Given the description of an element on the screen output the (x, y) to click on. 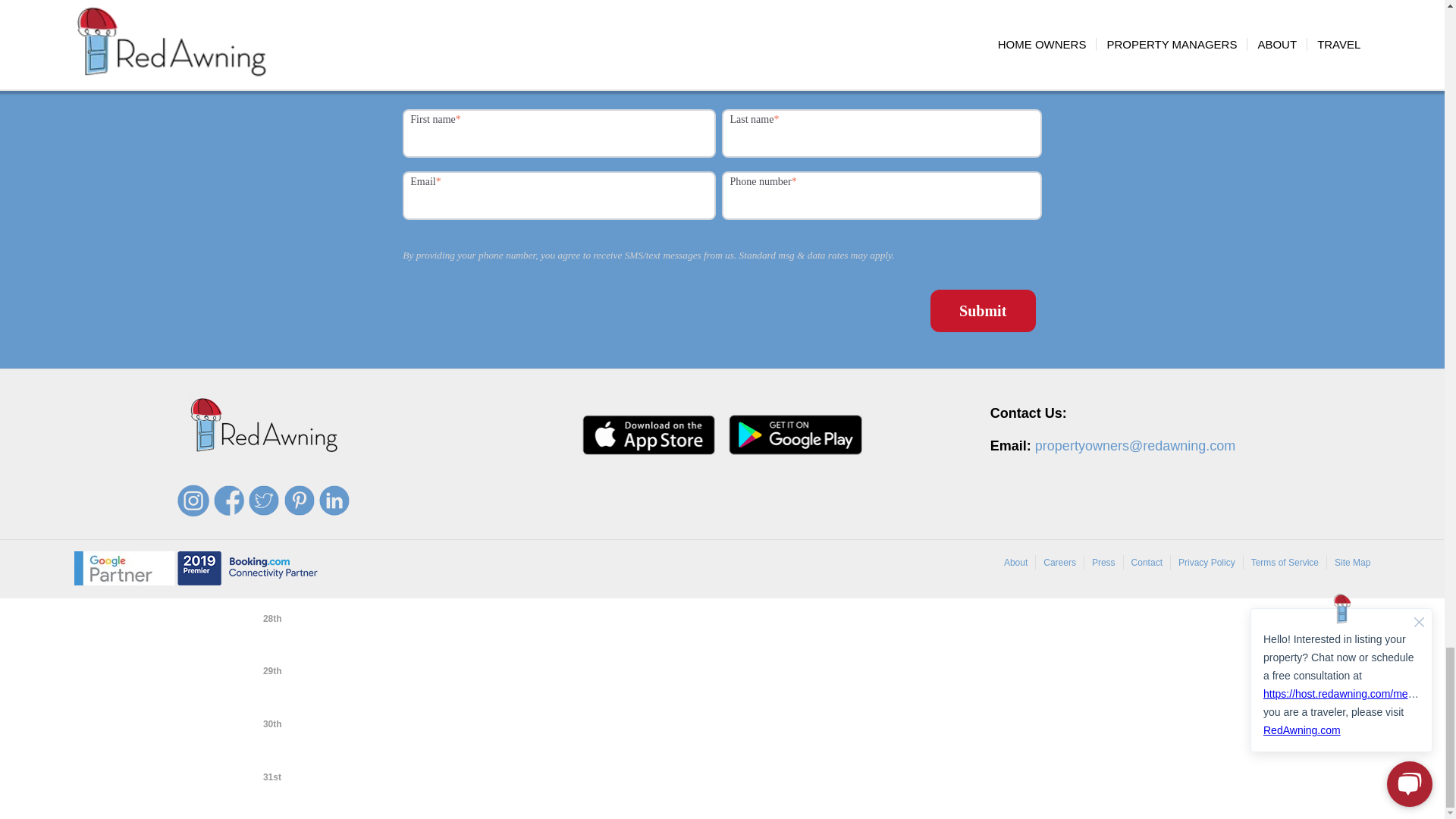
Submit (982, 310)
RedAwning Logo (263, 426)
Footer Google Image (124, 568)
Footer Booking Image (247, 568)
